Given the description of an element on the screen output the (x, y) to click on. 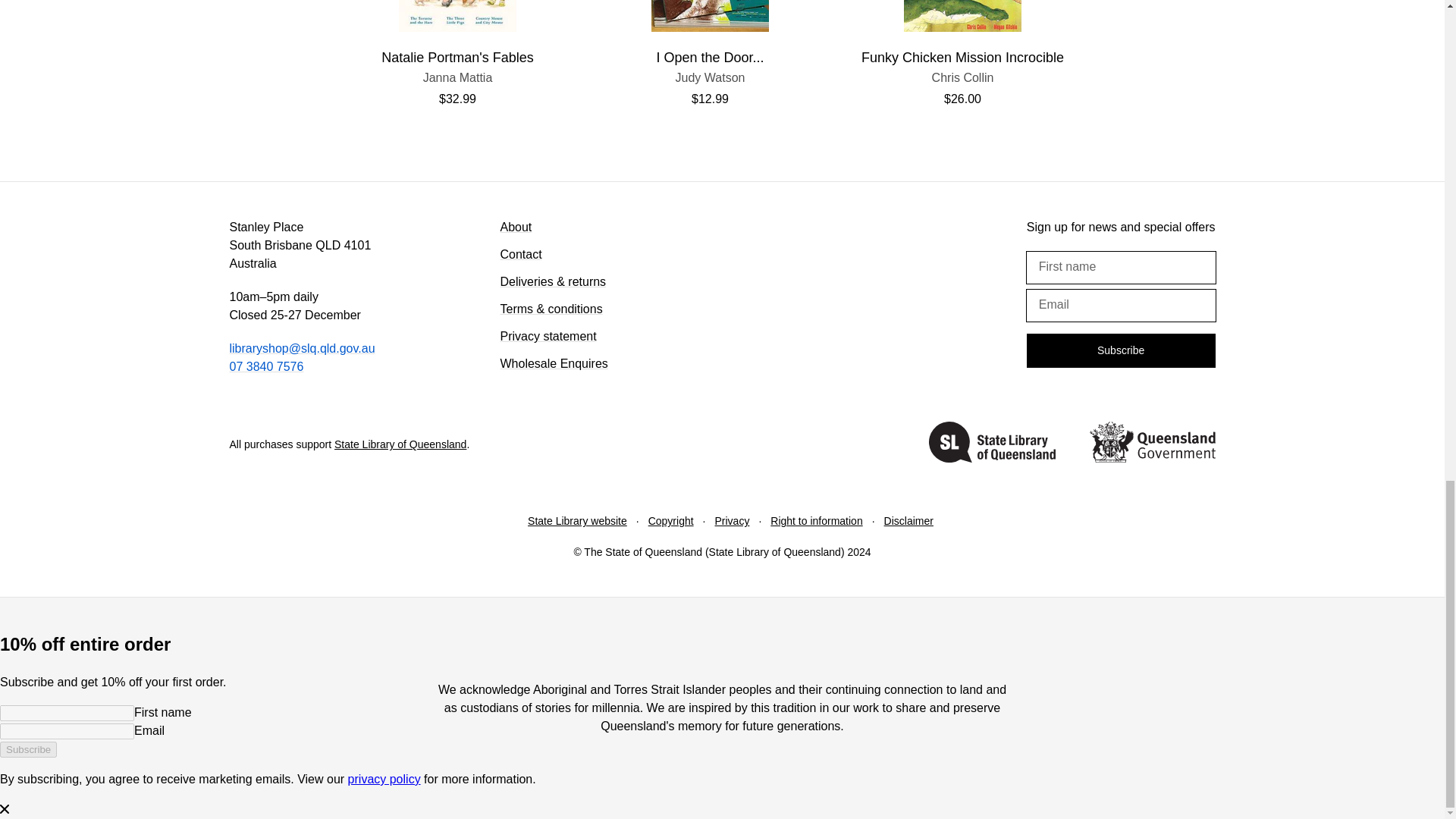
Go to Queensland State Library homepage (992, 444)
Go to Queensland Government homepage (1151, 444)
tel:07 3840 7576 (265, 366)
